Given the description of an element on the screen output the (x, y) to click on. 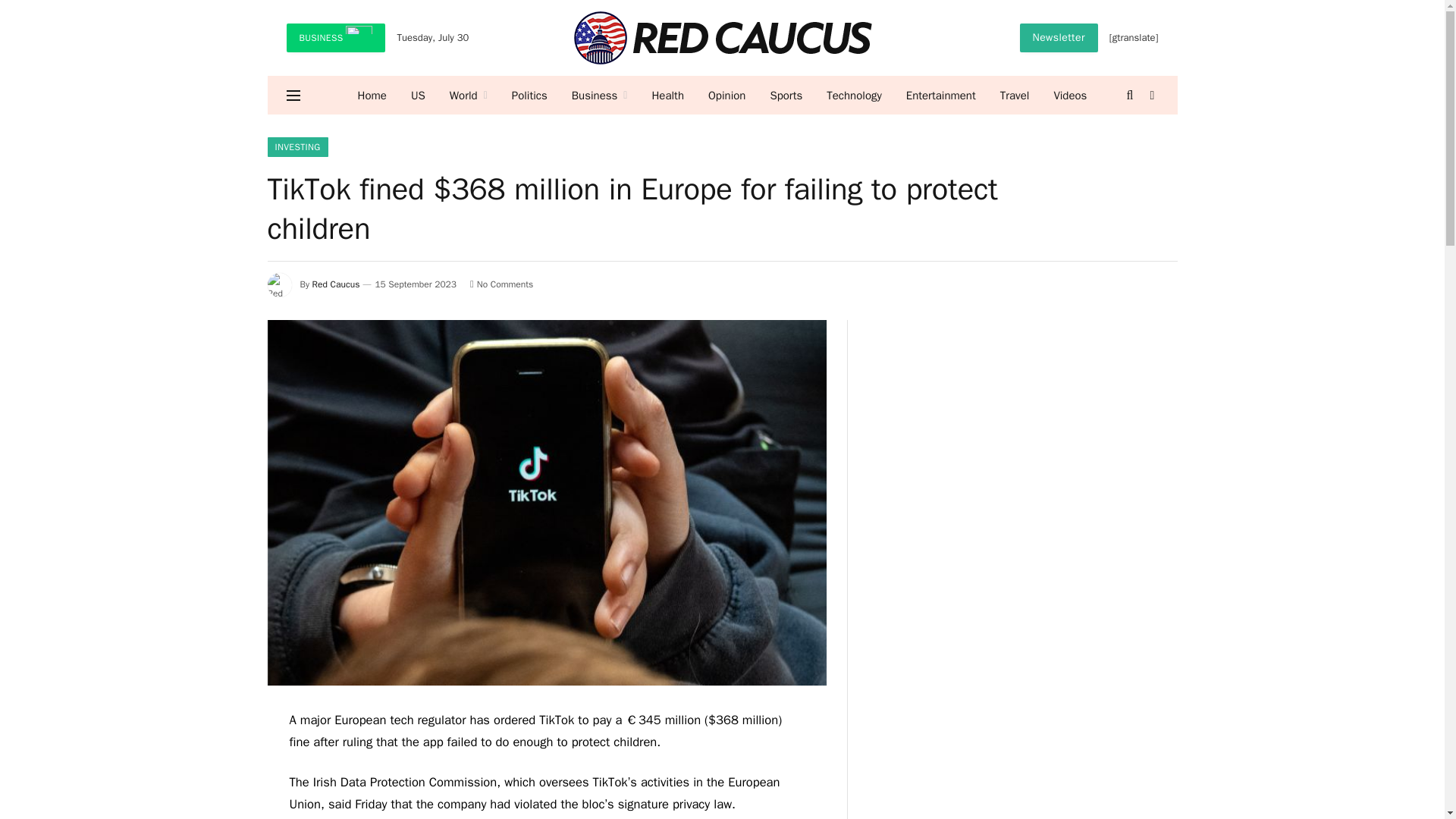
Politics (529, 95)
Newsletter (1058, 37)
Red Caucus (722, 38)
Posts by Red Caucus (336, 284)
Home (372, 95)
BUSINESS (335, 37)
Switch to Dark Design - easier on eyes. (1150, 95)
World (468, 95)
US (418, 95)
